Given the description of an element on the screen output the (x, y) to click on. 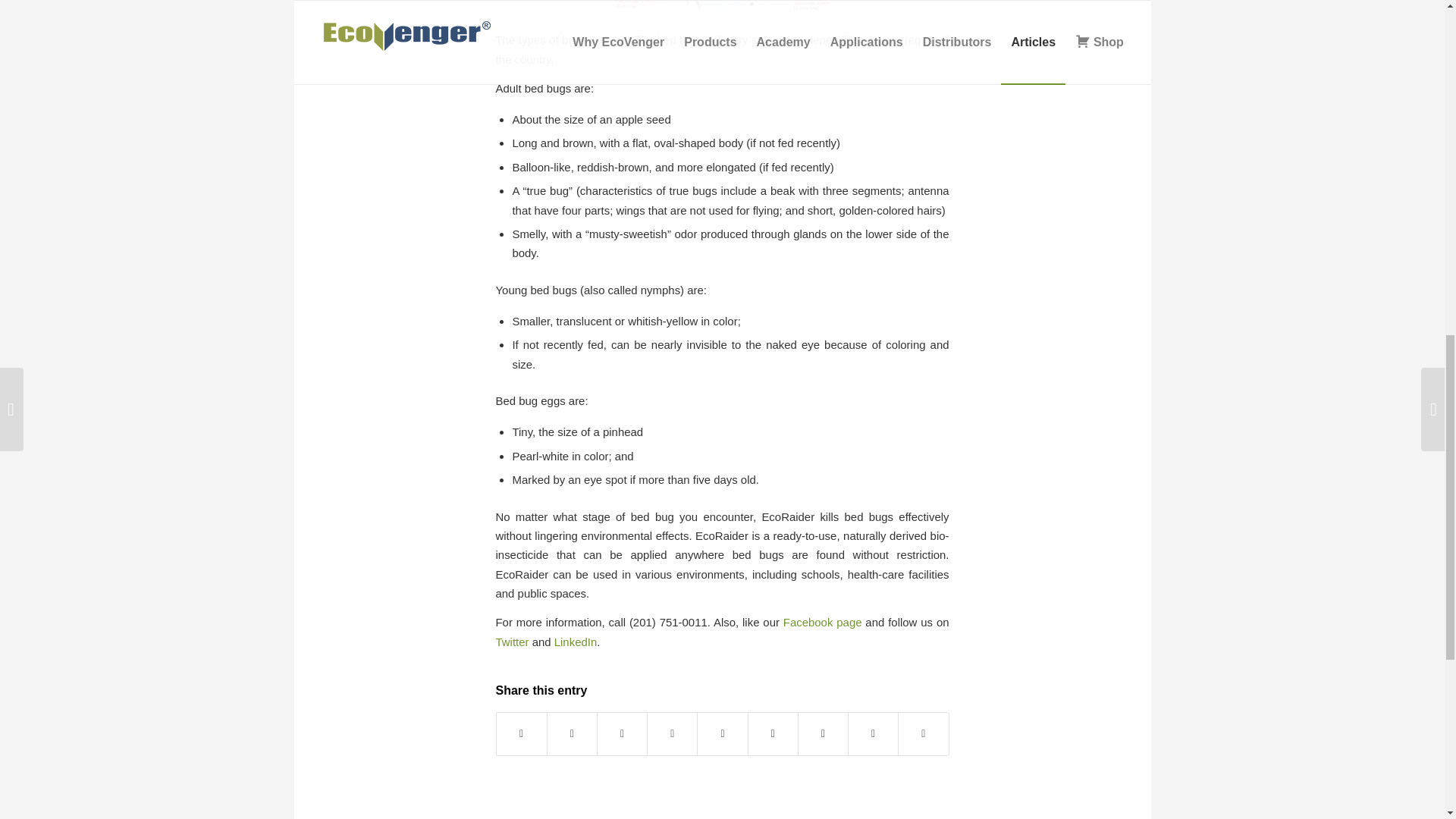
Twitter (512, 641)
LinkedIn (575, 641)
